Given the description of an element on the screen output the (x, y) to click on. 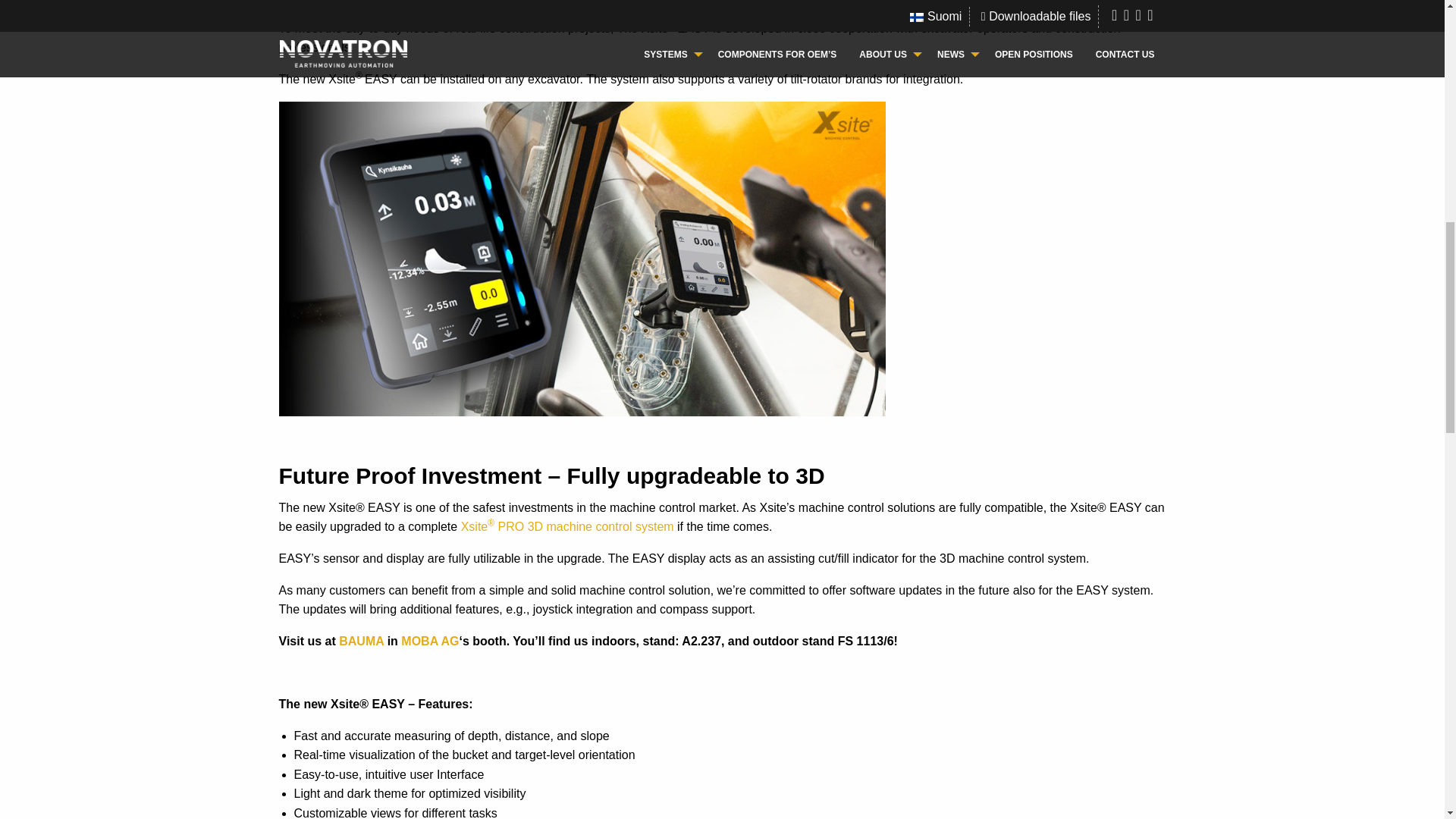
BAUMA (361, 640)
MOBA AG (429, 640)
